Given the description of an element on the screen output the (x, y) to click on. 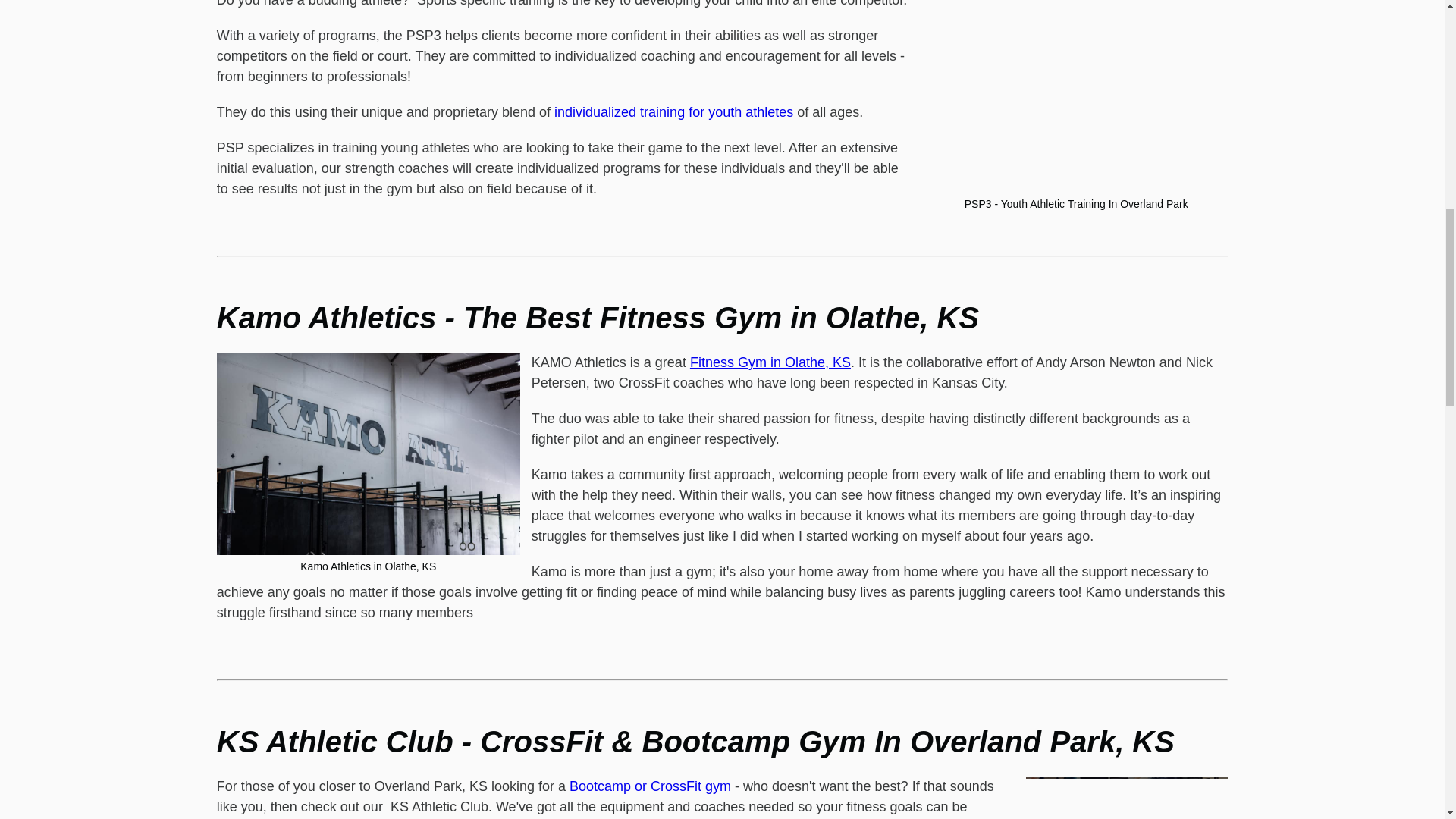
individualized training for youth athletes (673, 111)
Bootcamp or CrossFit gym (649, 785)
Fitness Gym in Olathe, KS (770, 362)
